Given the description of an element on the screen output the (x, y) to click on. 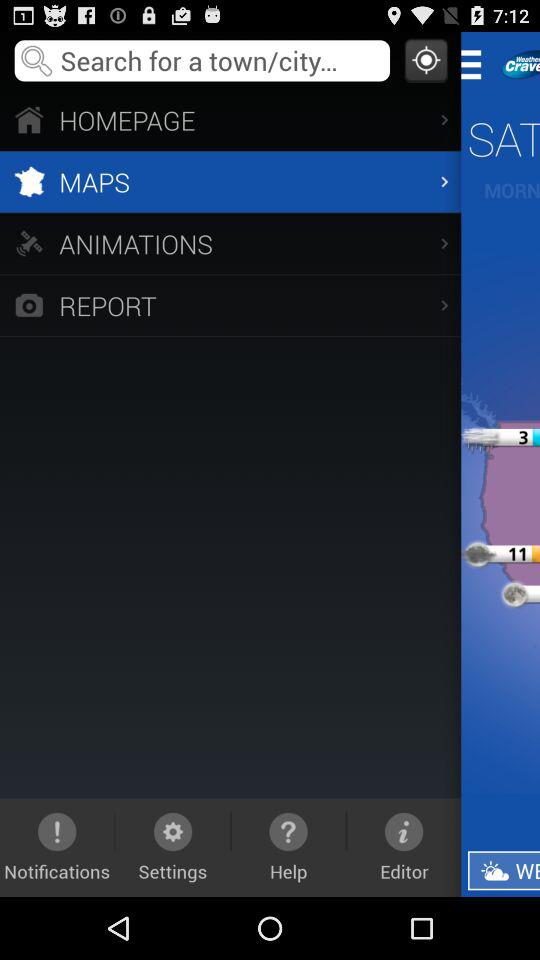
launch the app above the report app (230, 243)
